Given the description of an element on the screen output the (x, y) to click on. 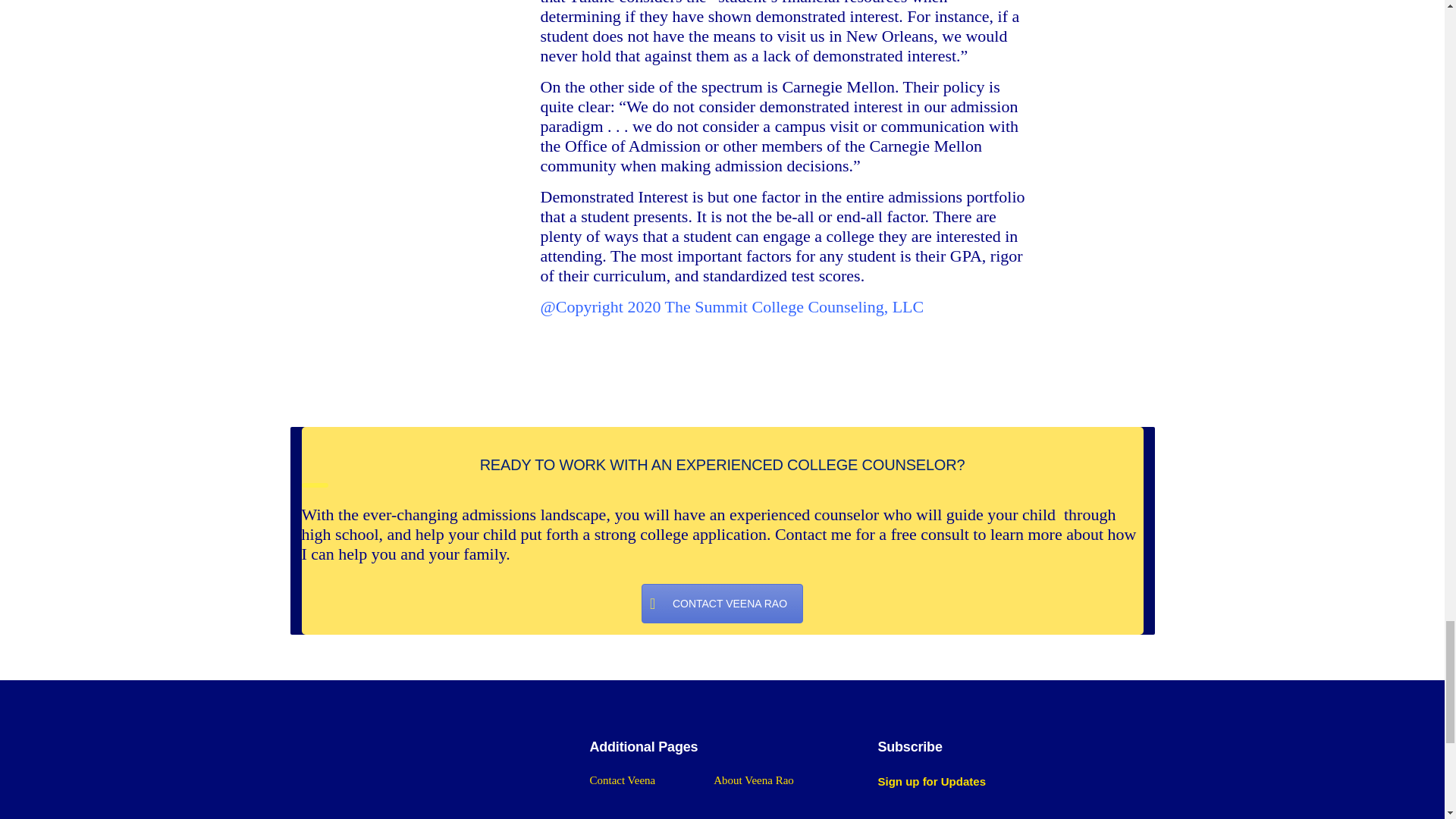
CONTACT VEENA RAO (722, 603)
